Given the description of an element on the screen output the (x, y) to click on. 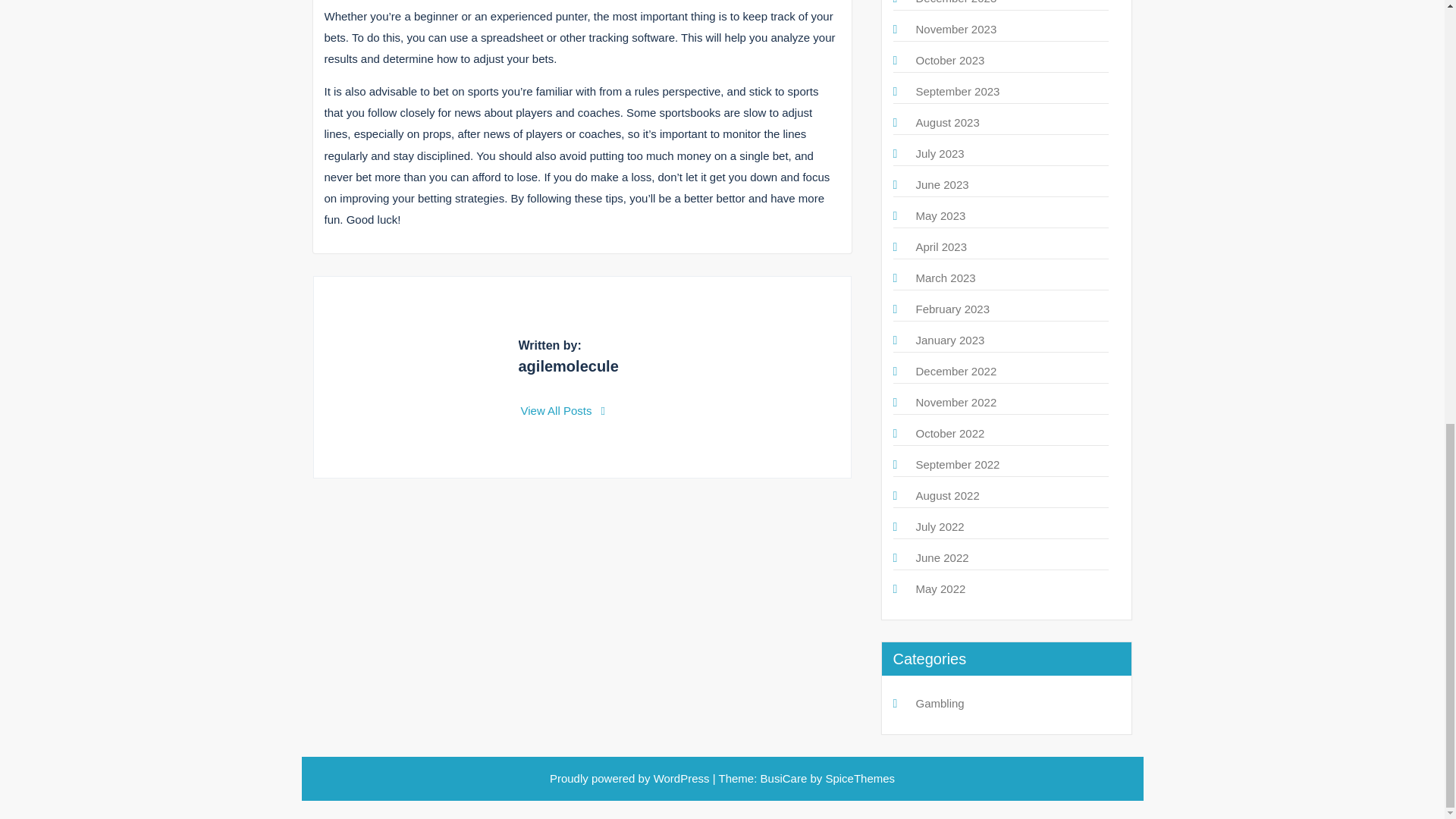
May 2023 (940, 215)
View All Posts (562, 410)
September 2022 (957, 463)
August 2023 (947, 122)
April 2023 (941, 246)
Gambling (939, 703)
March 2023 (945, 277)
August 2022 (947, 495)
June 2022 (942, 557)
WordPress (681, 778)
December 2023 (956, 2)
November 2023 (956, 29)
February 2023 (952, 308)
July 2022 (939, 526)
May 2022 (940, 588)
